Given the description of an element on the screen output the (x, y) to click on. 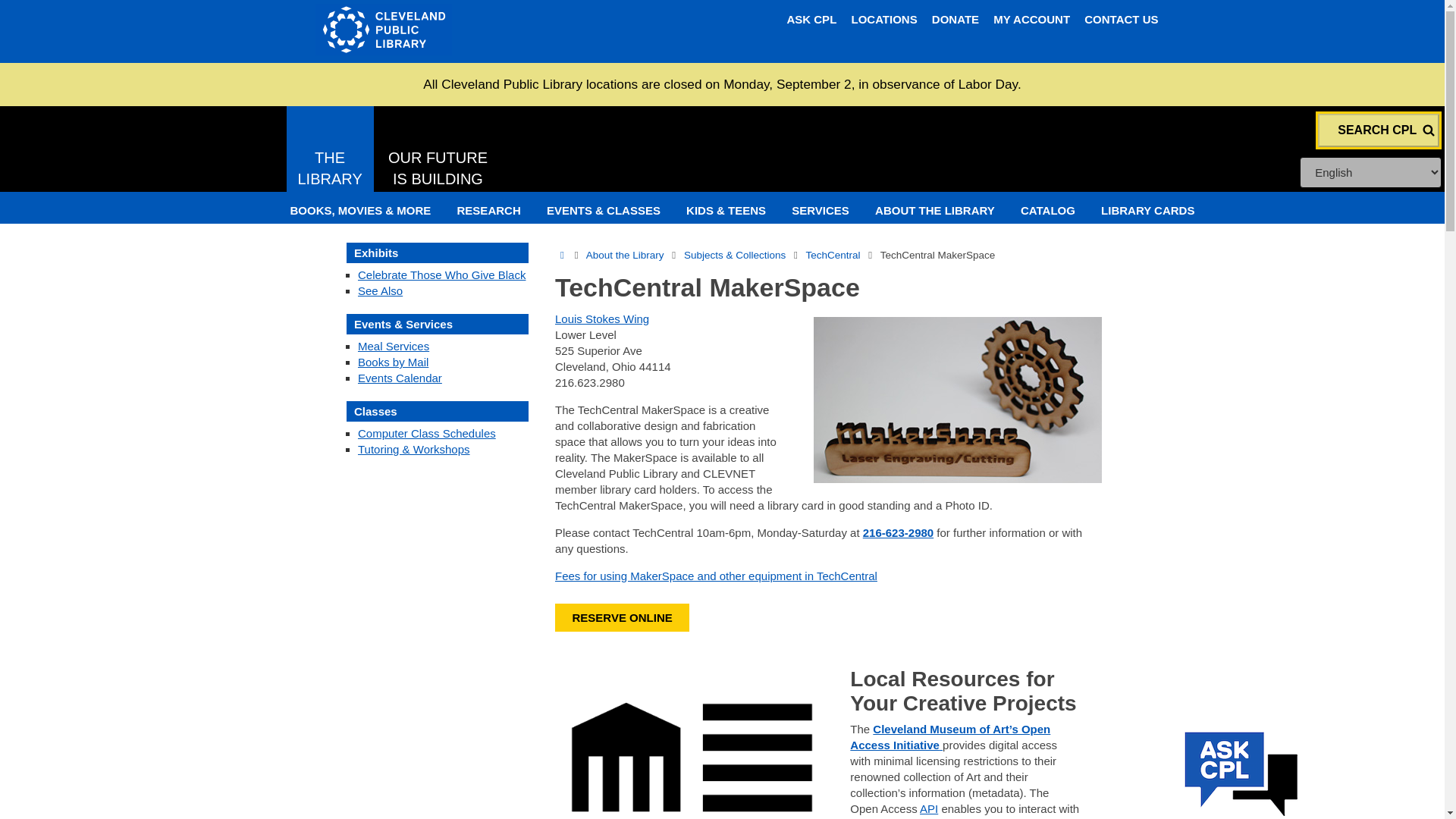
LOCATIONS (883, 19)
DONATE (954, 19)
ASK CPL (330, 151)
homepage of Cleveland Public Library (810, 19)
CONTACT US (497, 29)
MY ACCOUNT (1120, 19)
RESEARCH (1031, 19)
